Given the description of an element on the screen output the (x, y) to click on. 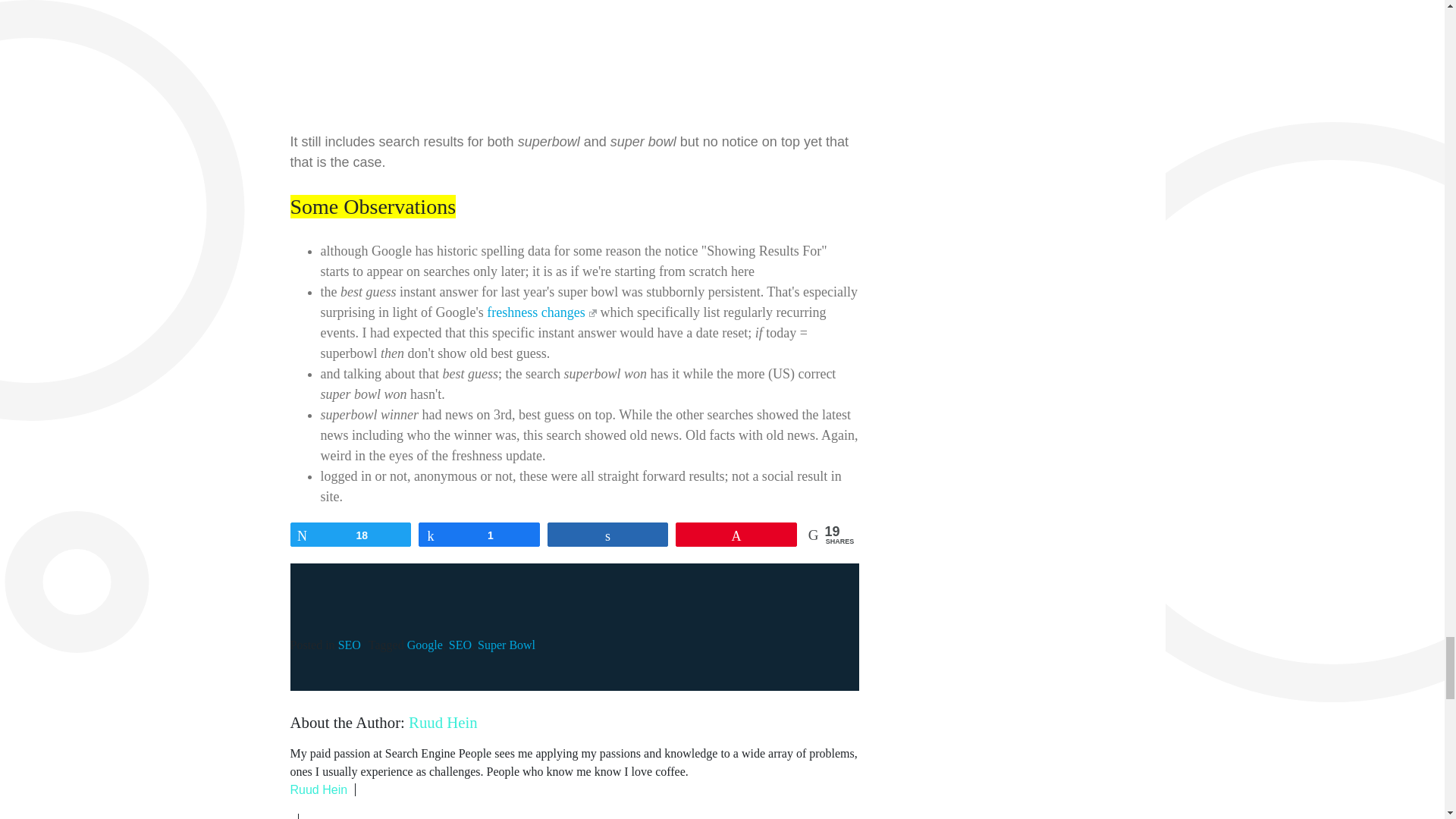
SEO (349, 644)
freshness changes (541, 312)
Google (424, 644)
18 (350, 534)
1 (478, 534)
SEO (459, 644)
Ruud Hein (318, 789)
Super Bowl (506, 644)
Ruud Hein (443, 722)
who won the super bowl 2012-02-06 09-12-17 (522, 59)
